Given the description of an element on the screen output the (x, y) to click on. 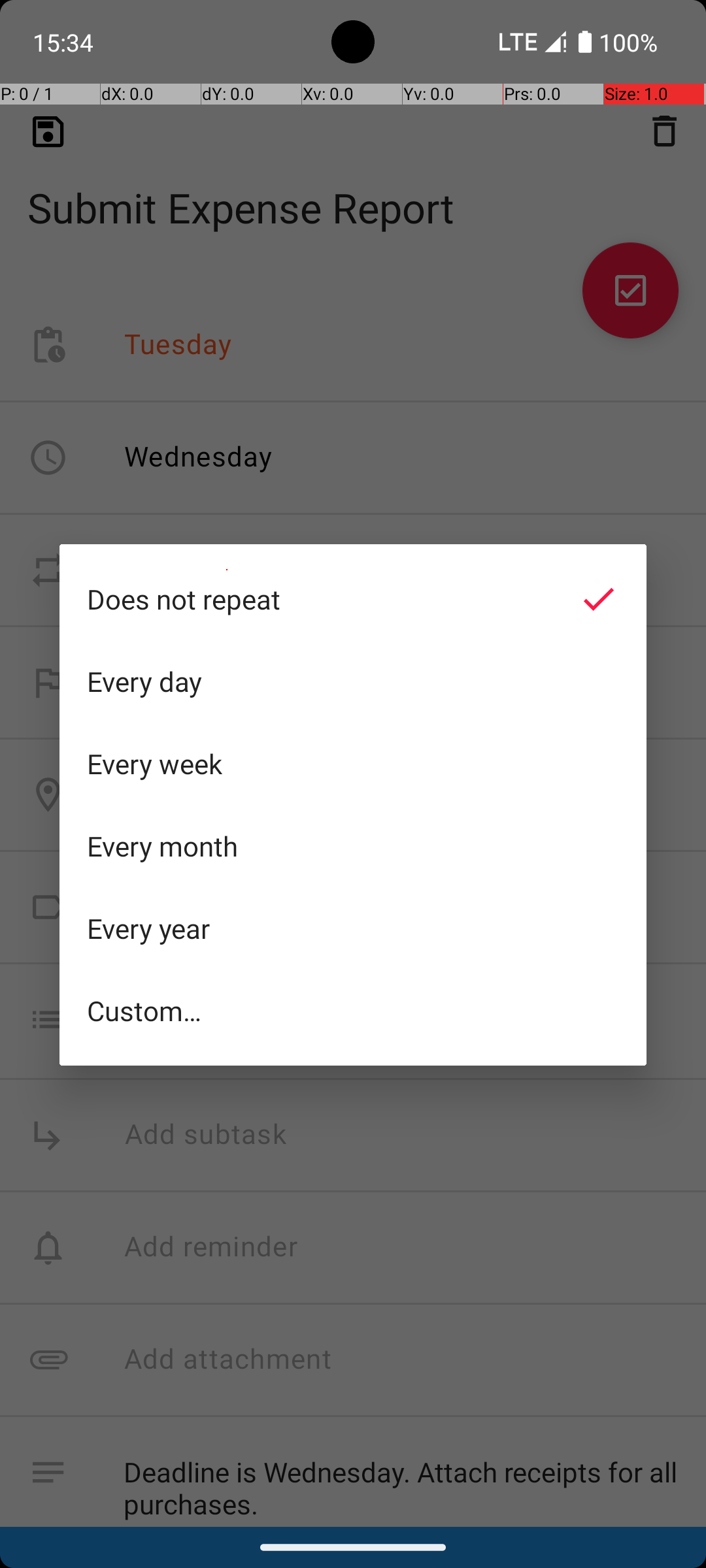
Every day Element type: android.widget.CheckedTextView (352, 681)
Every week Element type: android.widget.CheckedTextView (352, 763)
Every month Element type: android.widget.CheckedTextView (352, 845)
Every year Element type: android.widget.CheckedTextView (352, 928)
Custom… Element type: android.widget.CheckedTextView (352, 1010)
